Given the description of an element on the screen output the (x, y) to click on. 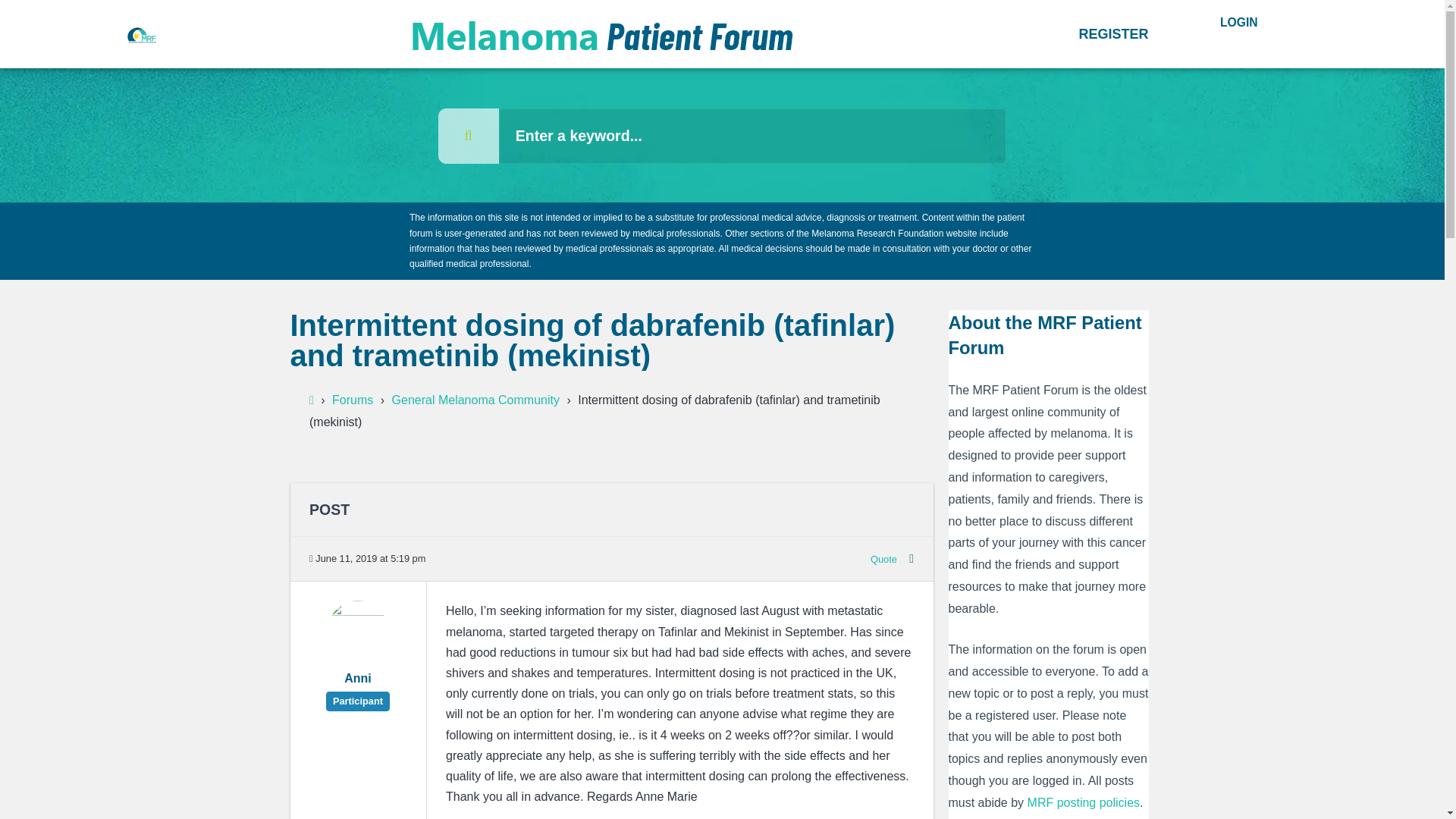
View Anni's profile (357, 687)
REGISTER (1114, 33)
Forums (351, 399)
MRF-Logo2019-Horizontal-RGB (140, 34)
Anni (357, 687)
LOGIN (1239, 22)
Quote (883, 559)
General Melanoma Community (475, 399)
View Anni's profile (357, 657)
